Given the description of an element on the screen output the (x, y) to click on. 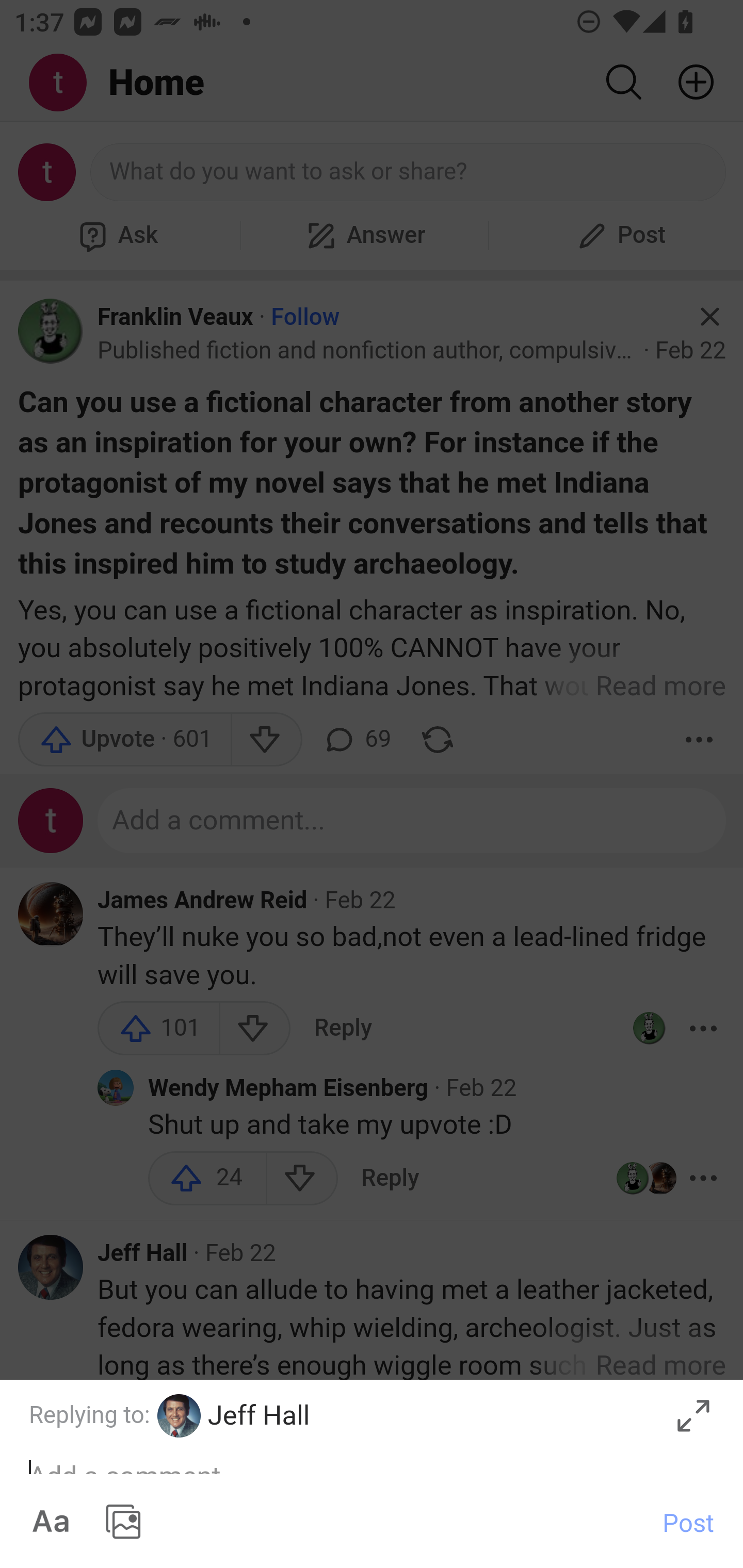
More (703, 1418)
Post (687, 1521)
